Given the description of an element on the screen output the (x, y) to click on. 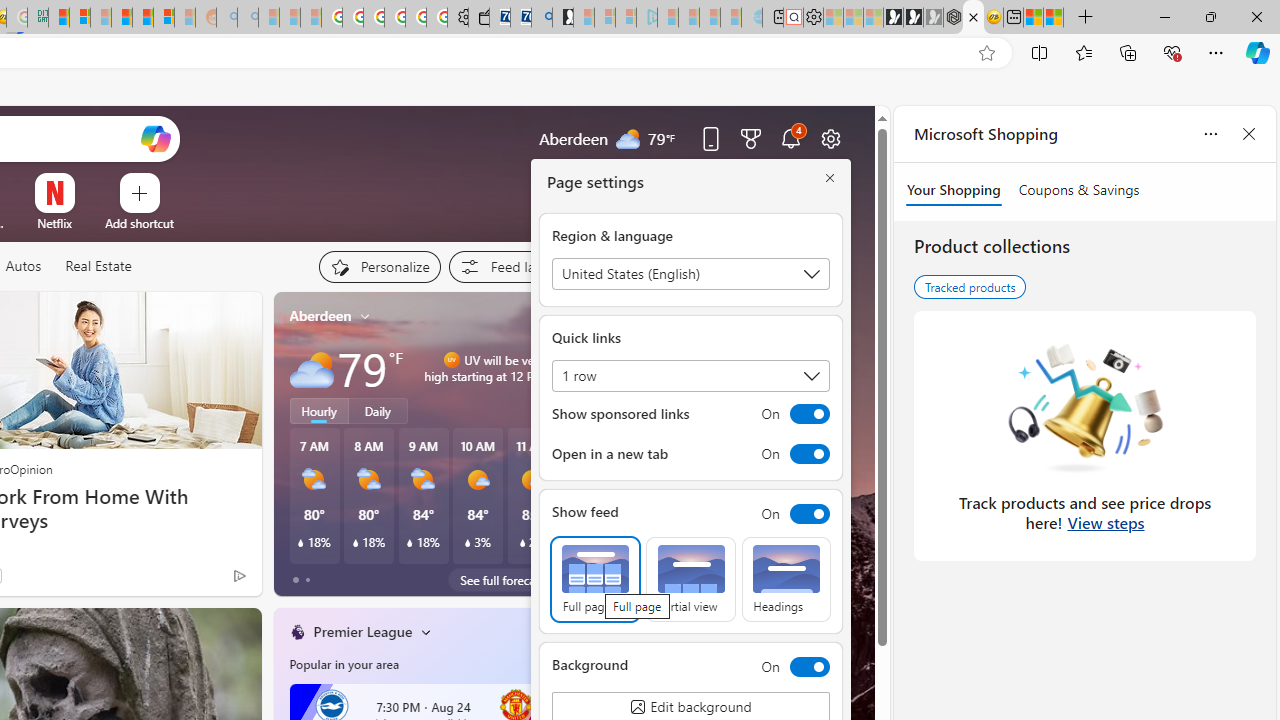
Expert Portfolios (121, 17)
Ad Choice (238, 575)
Notifications (790, 138)
Kinda Frugal - MSN (143, 17)
Real Estate (98, 265)
My location (365, 315)
UV will be very high starting at 12 PM (551, 367)
previous (283, 443)
